Given the description of an element on the screen output the (x, y) to click on. 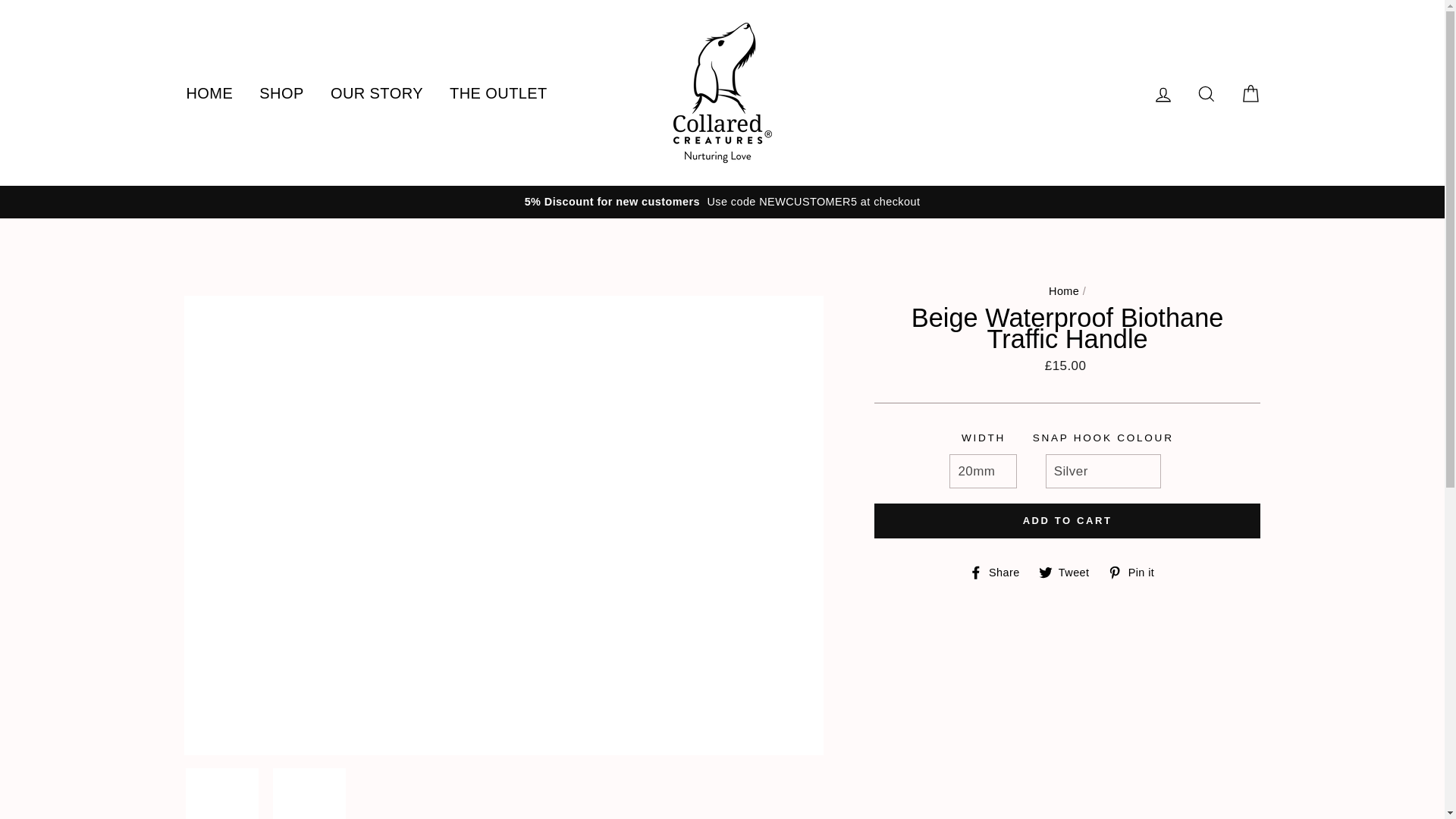
Share on Facebook (999, 571)
Back to the frontpage (1063, 291)
Tweet on Twitter (1069, 571)
Pin on Pinterest (1137, 571)
